Given the description of an element on the screen output the (x, y) to click on. 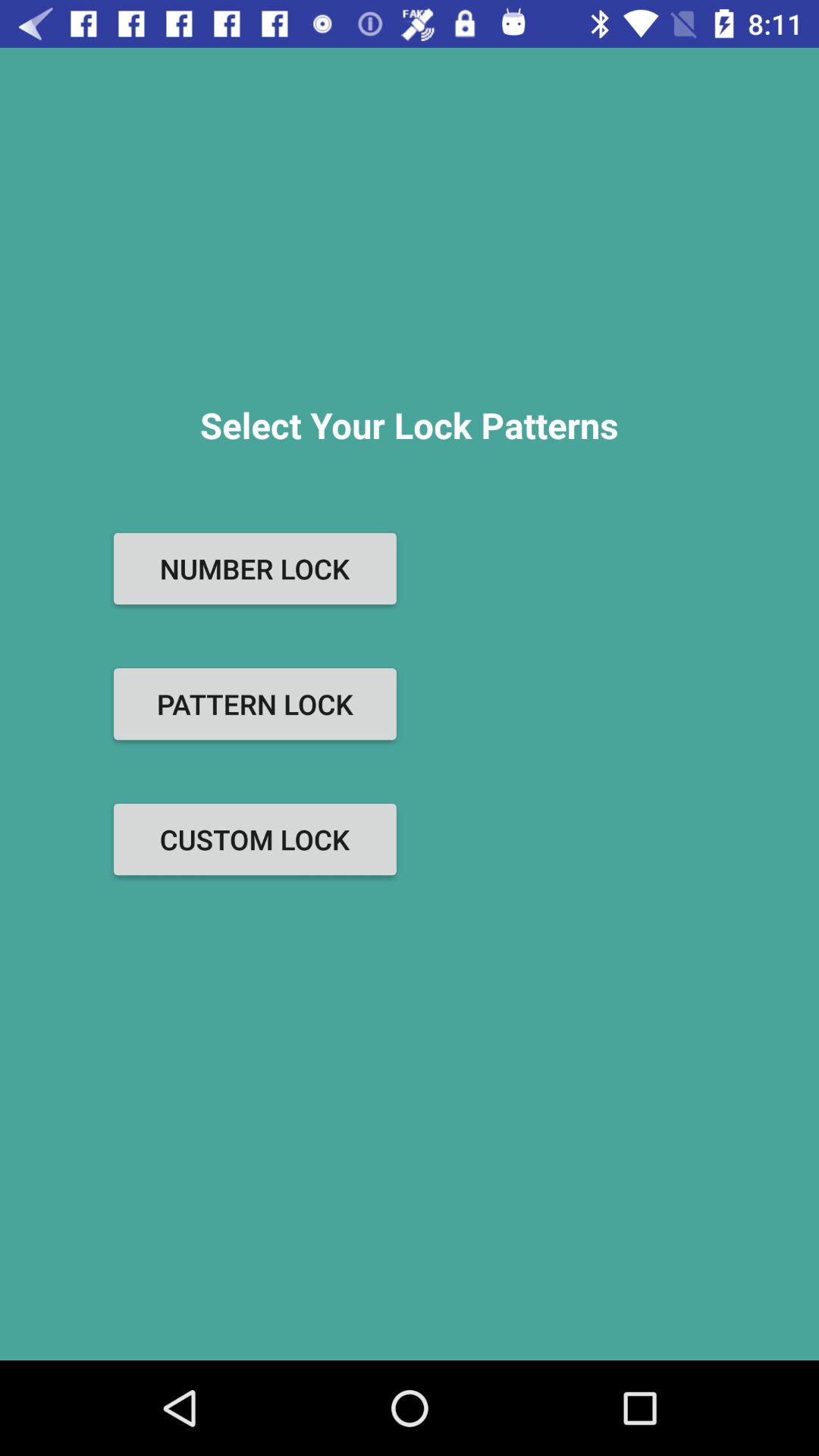
press the button below the number lock item (254, 703)
